Given the description of an element on the screen output the (x, y) to click on. 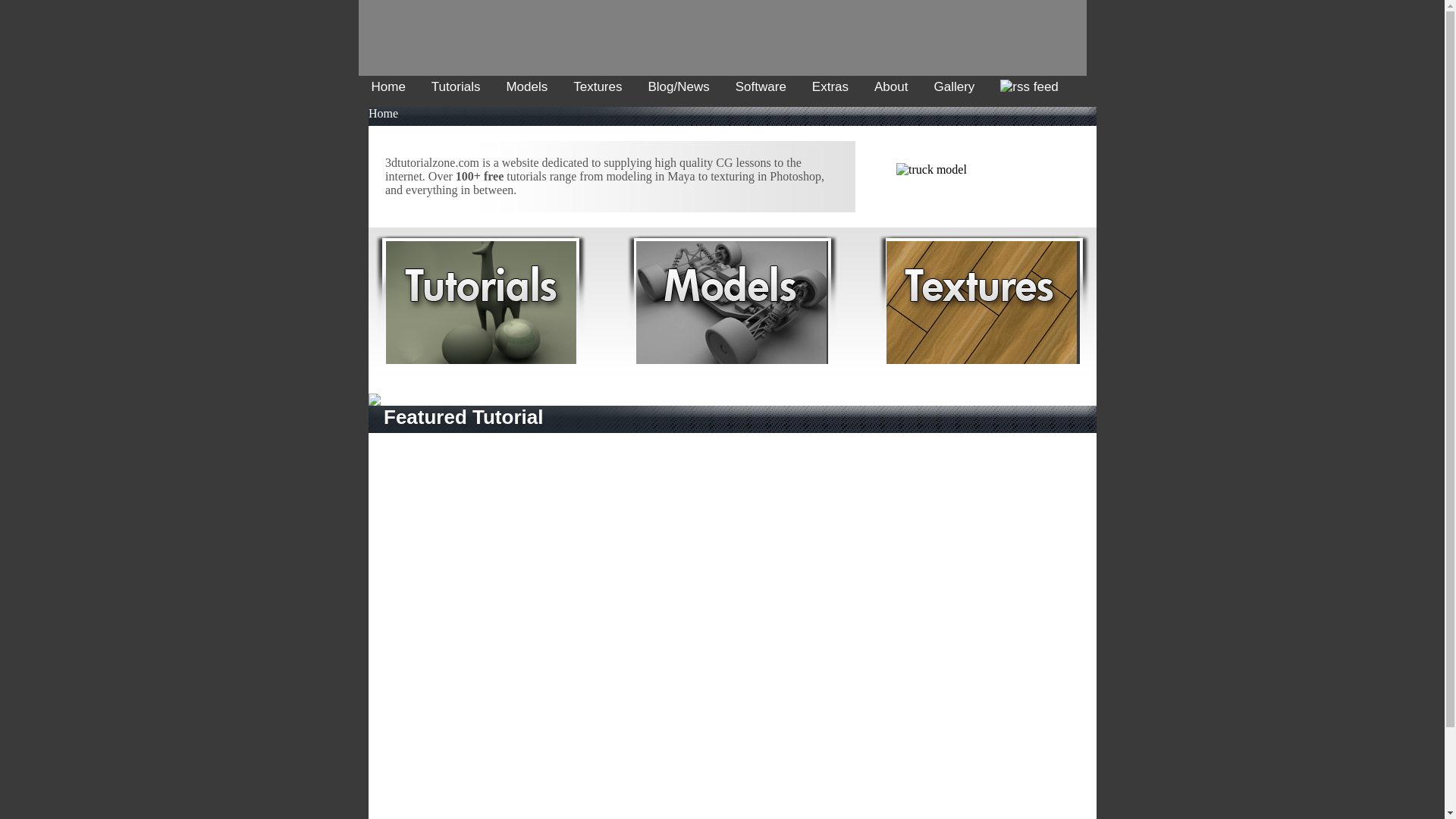
Blog/News Element type: text (678, 86)
About Element type: text (890, 86)
Home Element type: text (388, 86)
Textures Element type: text (597, 86)
Software Element type: text (760, 86)
Models Element type: text (526, 86)
Extras Element type: text (830, 86)
Tutorials Element type: text (455, 86)
Gallery Element type: text (953, 86)
